Given the description of an element on the screen output the (x, y) to click on. 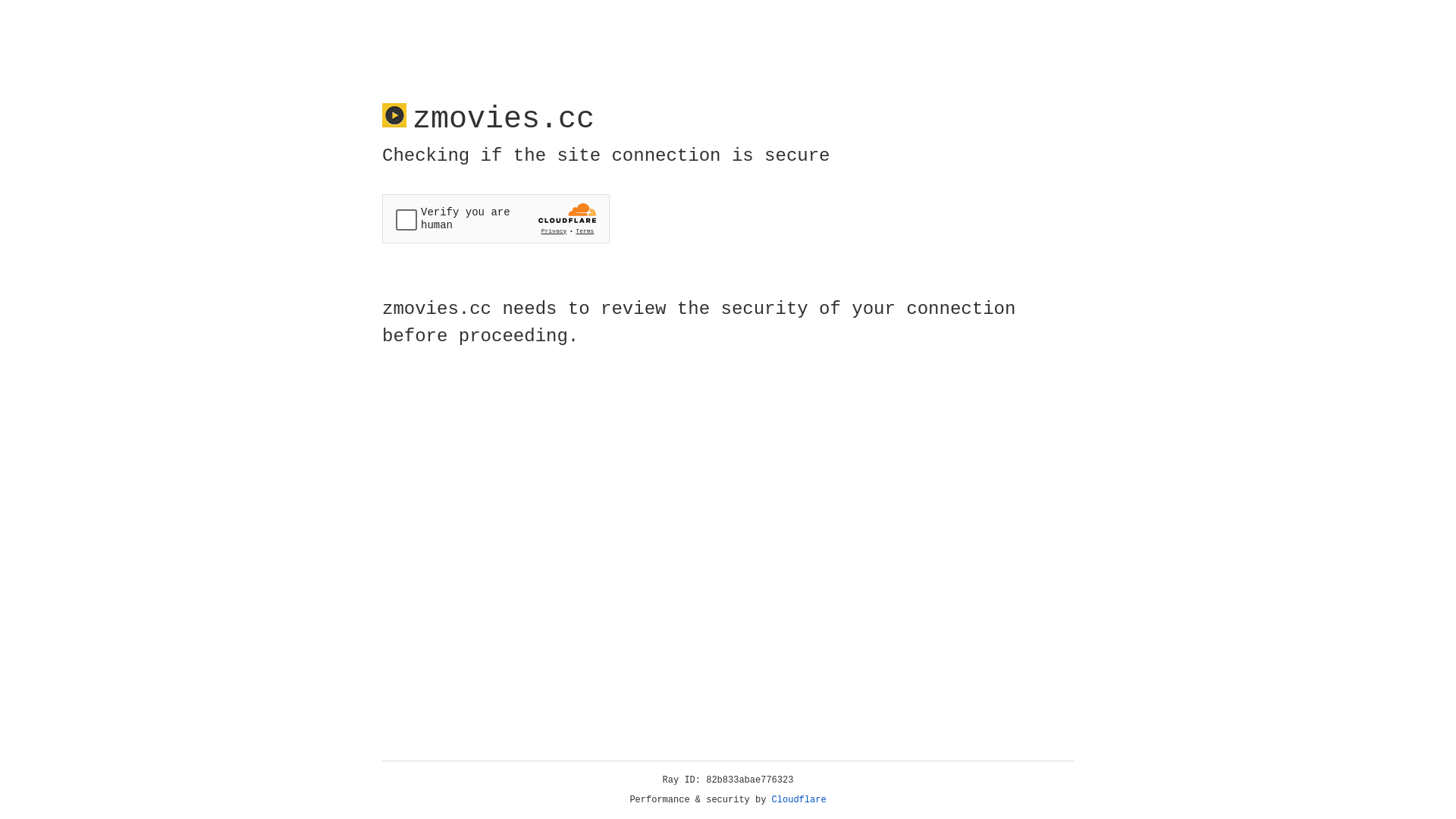
Widget containing a Cloudflare security challenge Element type: hover (495, 218)
Cloudflare Element type: text (798, 799)
